Given the description of an element on the screen output the (x, y) to click on. 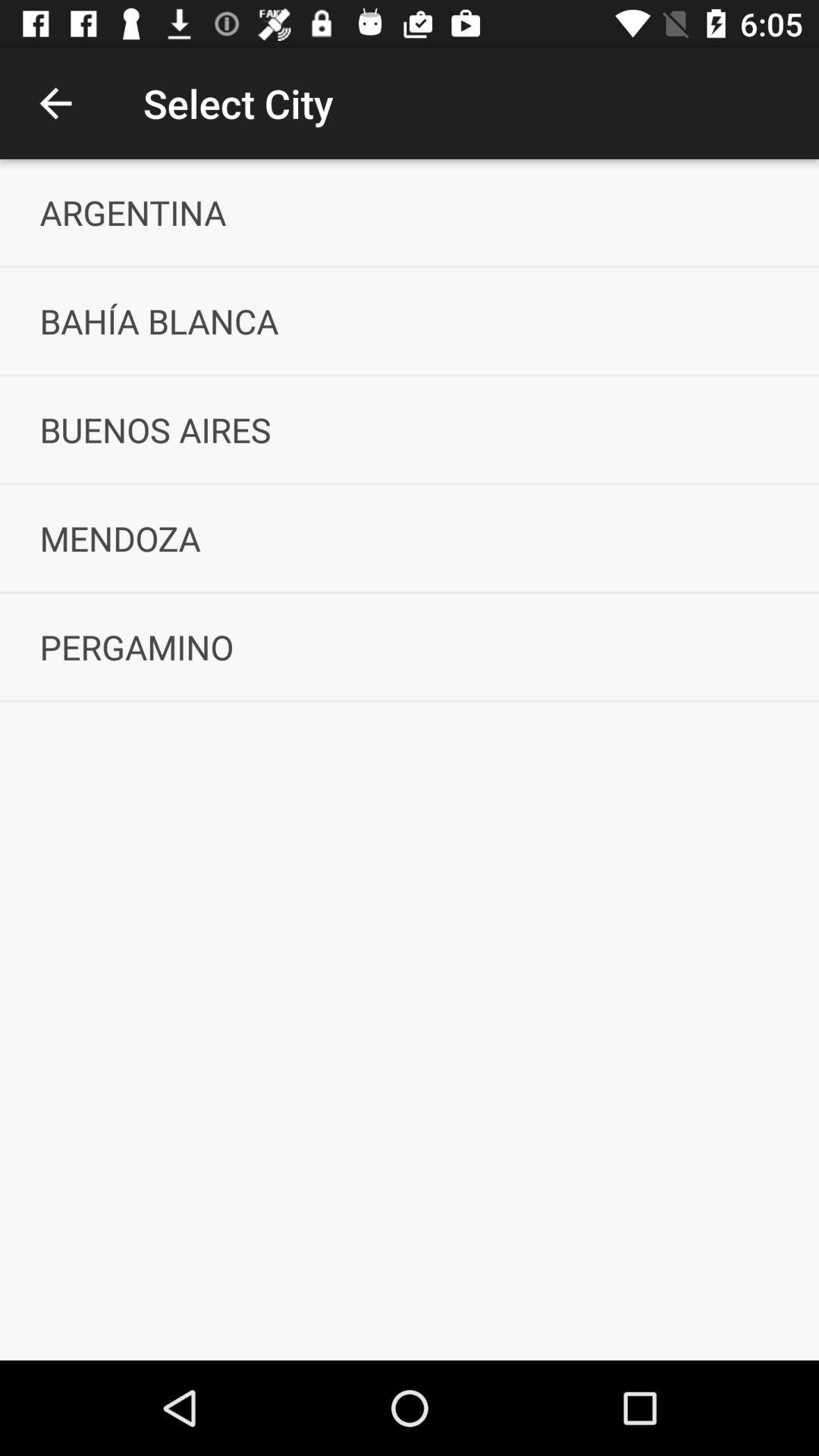
press the icon to the left of the select city (55, 103)
